Given the description of an element on the screen output the (x, y) to click on. 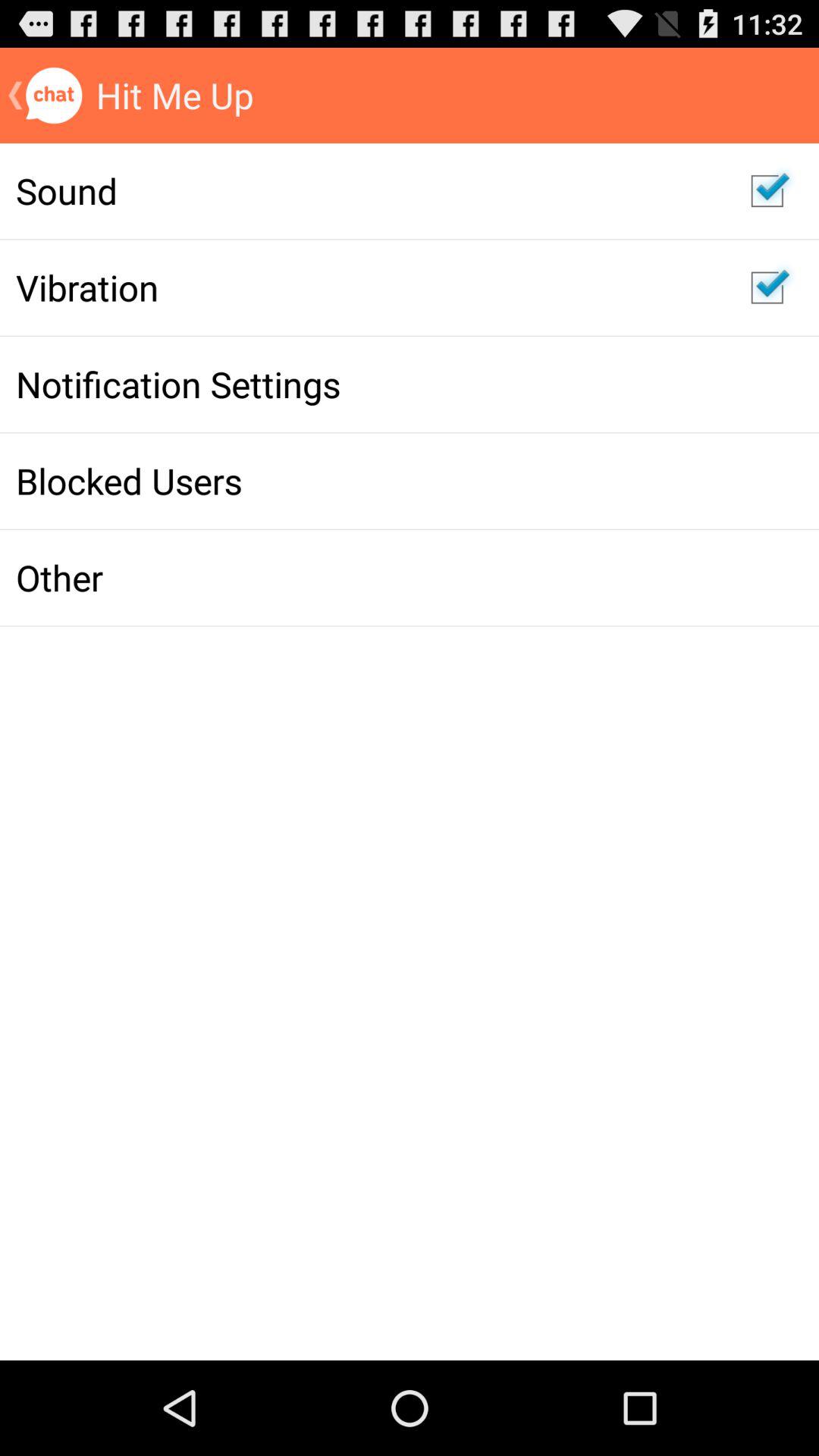
press item above other item (367, 480)
